Given the description of an element on the screen output the (x, y) to click on. 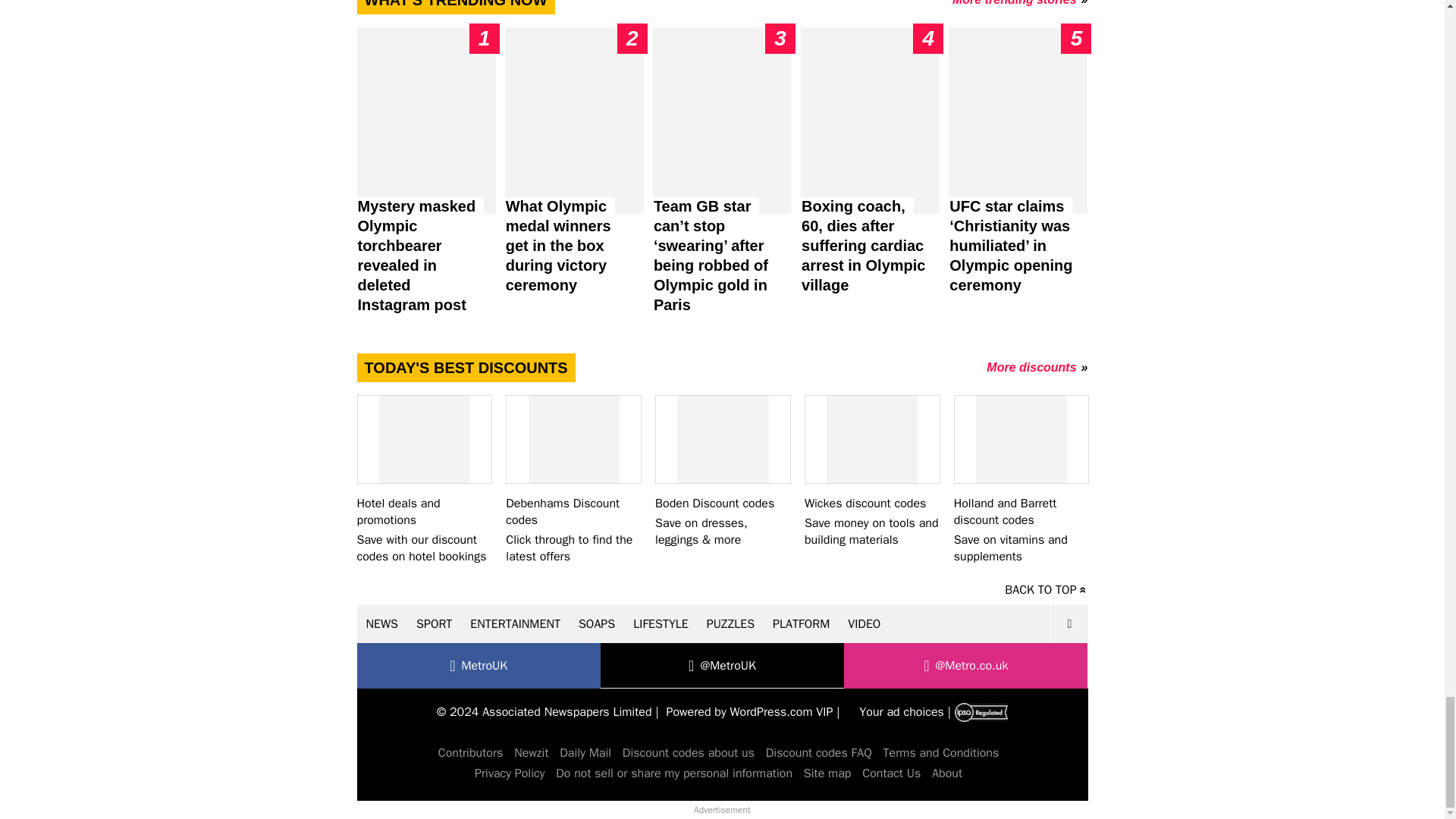
Boden (722, 470)
Wickes (872, 470)
Debenhams (572, 479)
Travelodge (423, 479)
